Given the description of an element on the screen output the (x, y) to click on. 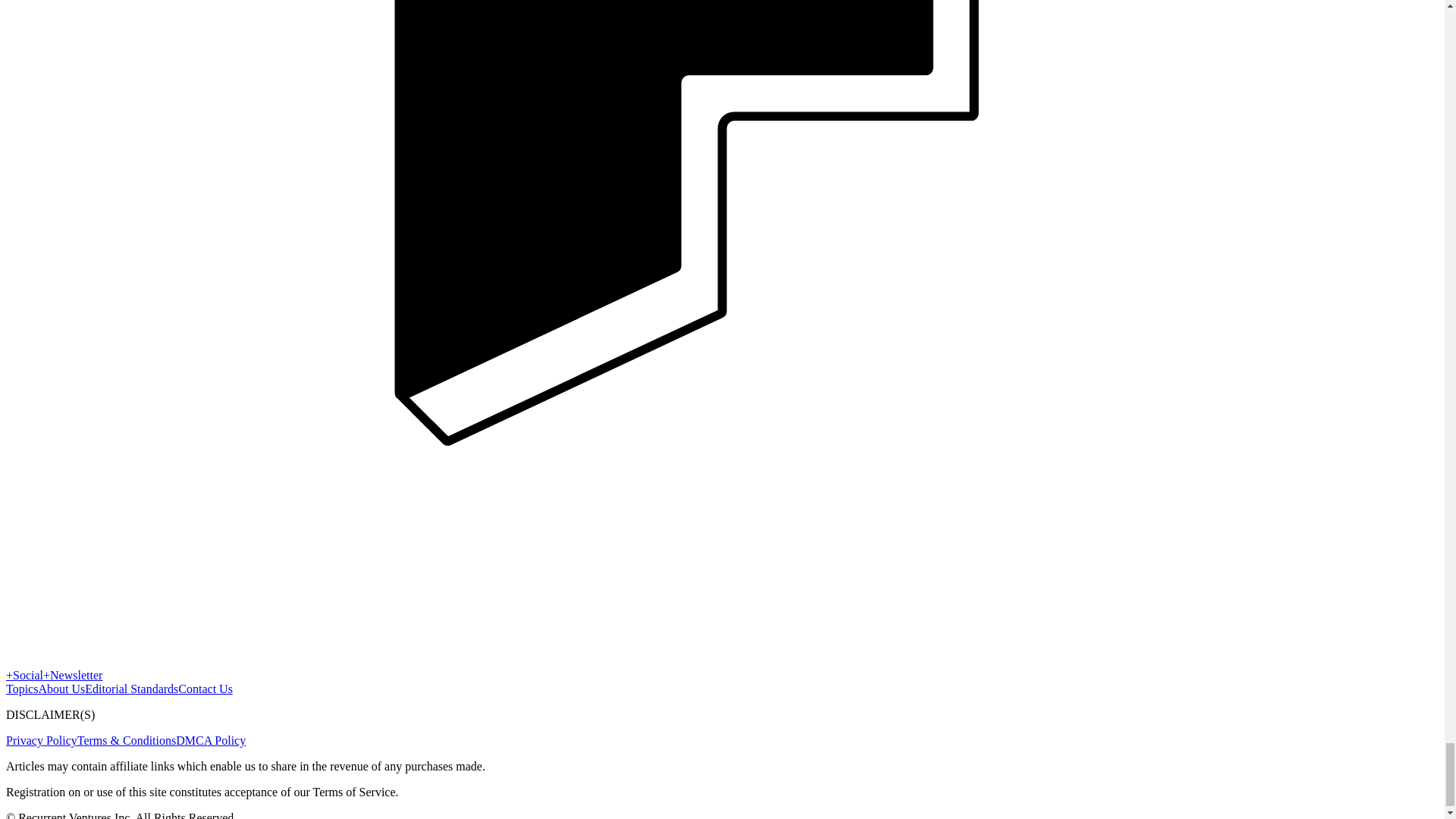
Contact Us (204, 688)
Editorial Standards (130, 688)
Topics (21, 688)
About Us (60, 688)
Privacy Policy (41, 739)
DMCA Policy (211, 739)
